Given the description of an element on the screen output the (x, y) to click on. 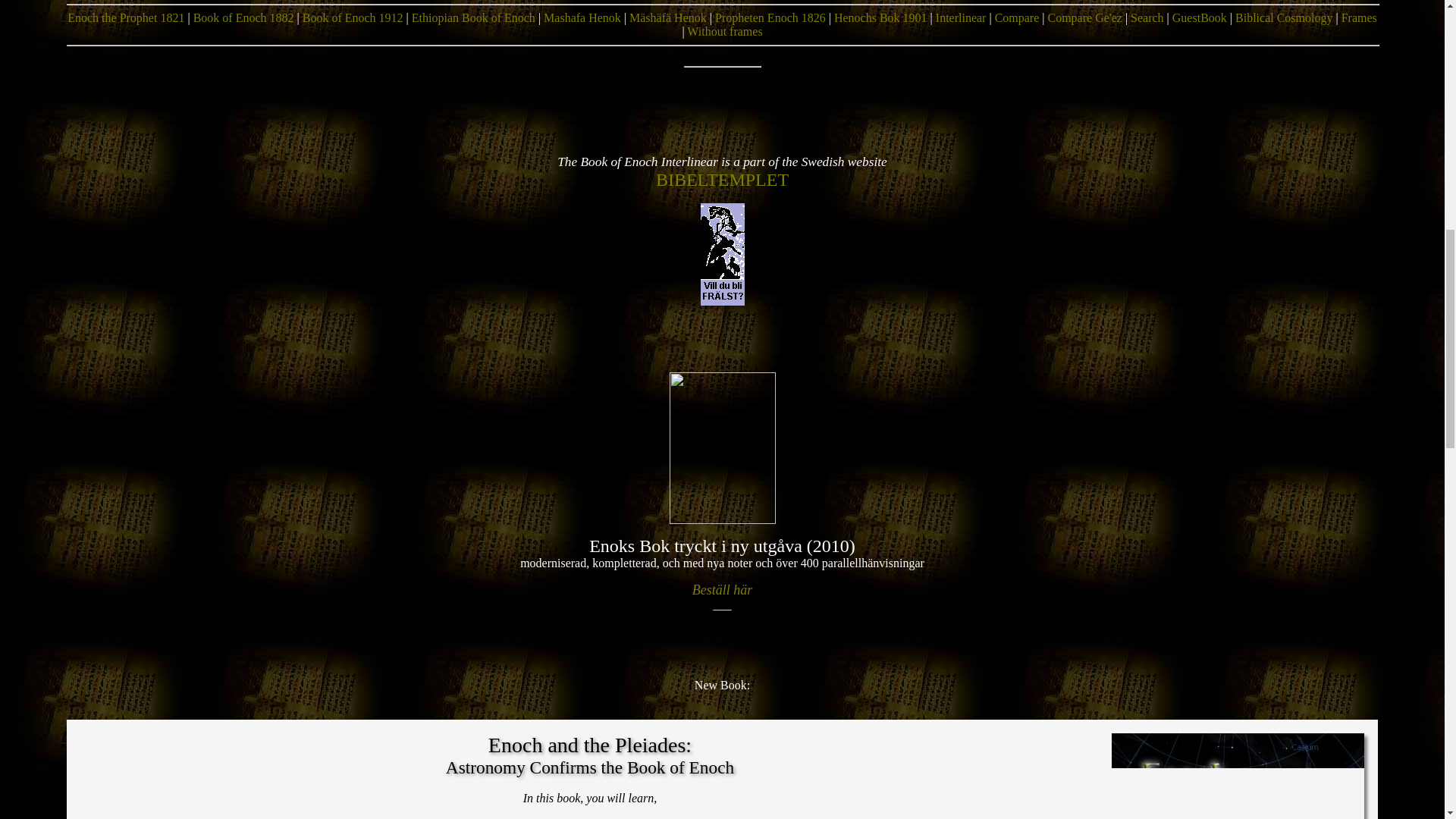
Book of Enoch 1882 (243, 17)
Henochs Bok 1901 (880, 17)
Ethiopian Book of Enoch (473, 17)
Enoch the Prophet 1821 (125, 17)
Mashafa Henok (582, 17)
Compare (1016, 17)
Propheten Enoch 1826 (769, 17)
Interlinear (961, 17)
Book of Enoch 1912 (352, 17)
